Given the description of an element on the screen output the (x, y) to click on. 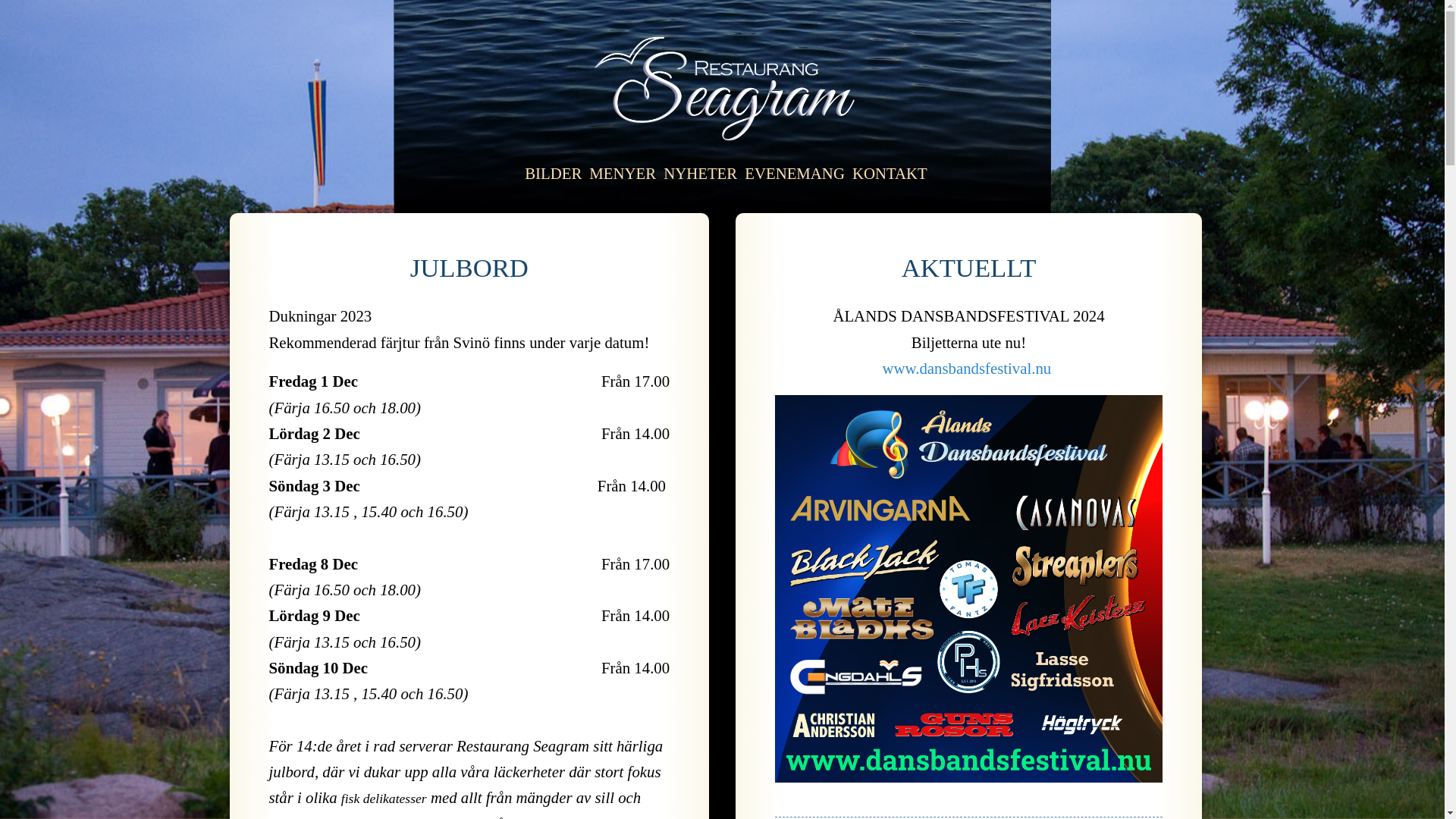
NYHETER Element type: text (700, 173)
BILDER Element type: text (552, 173)
KONTAKT Element type: text (889, 173)
www.dansbandsfestival.nu  Element type: text (968, 367)
MENYER Element type: text (622, 173)
EVENEMANG Element type: text (794, 173)
